Given the description of an element on the screen output the (x, y) to click on. 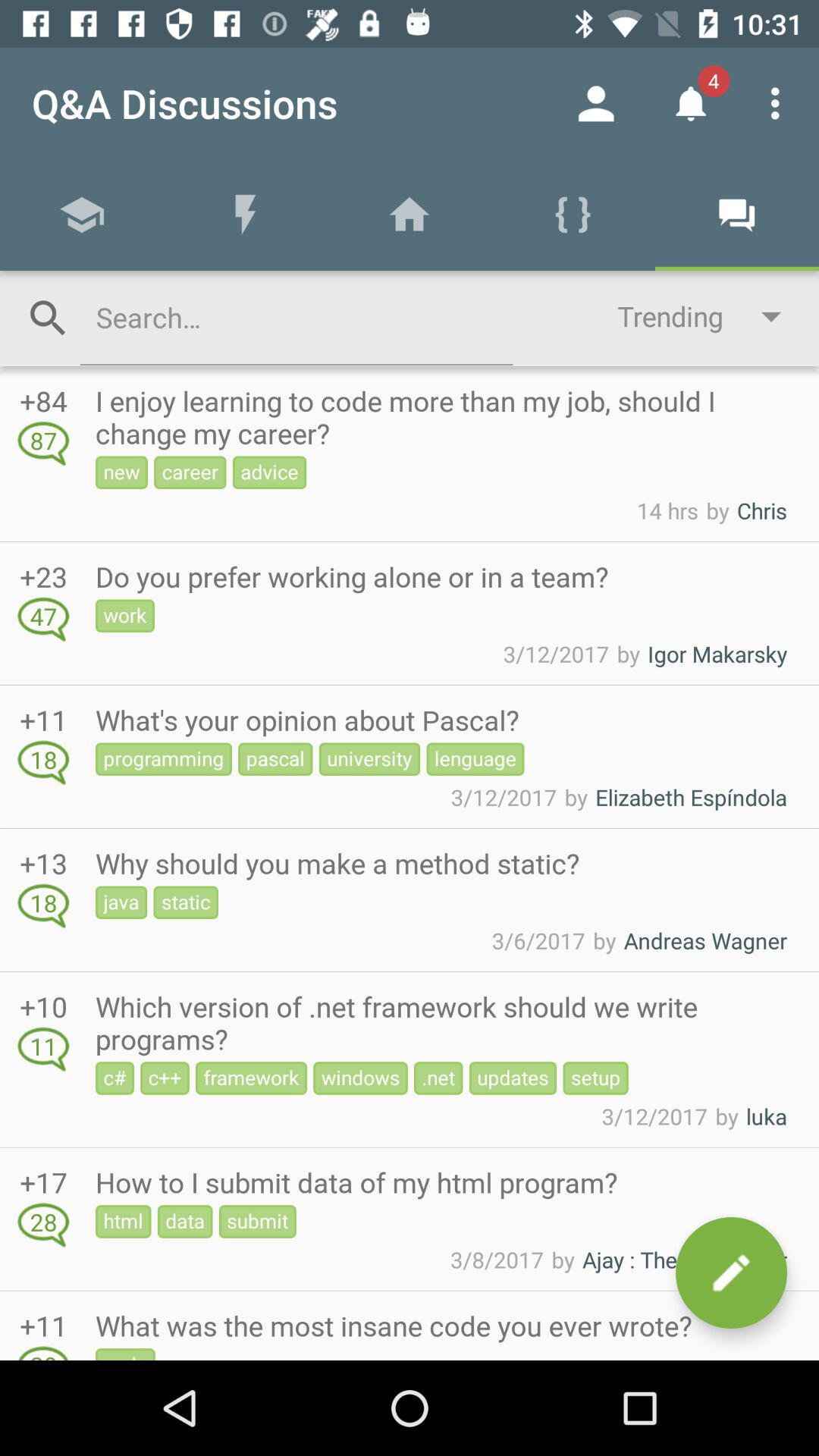
post message (731, 1272)
